Given the description of an element on the screen output the (x, y) to click on. 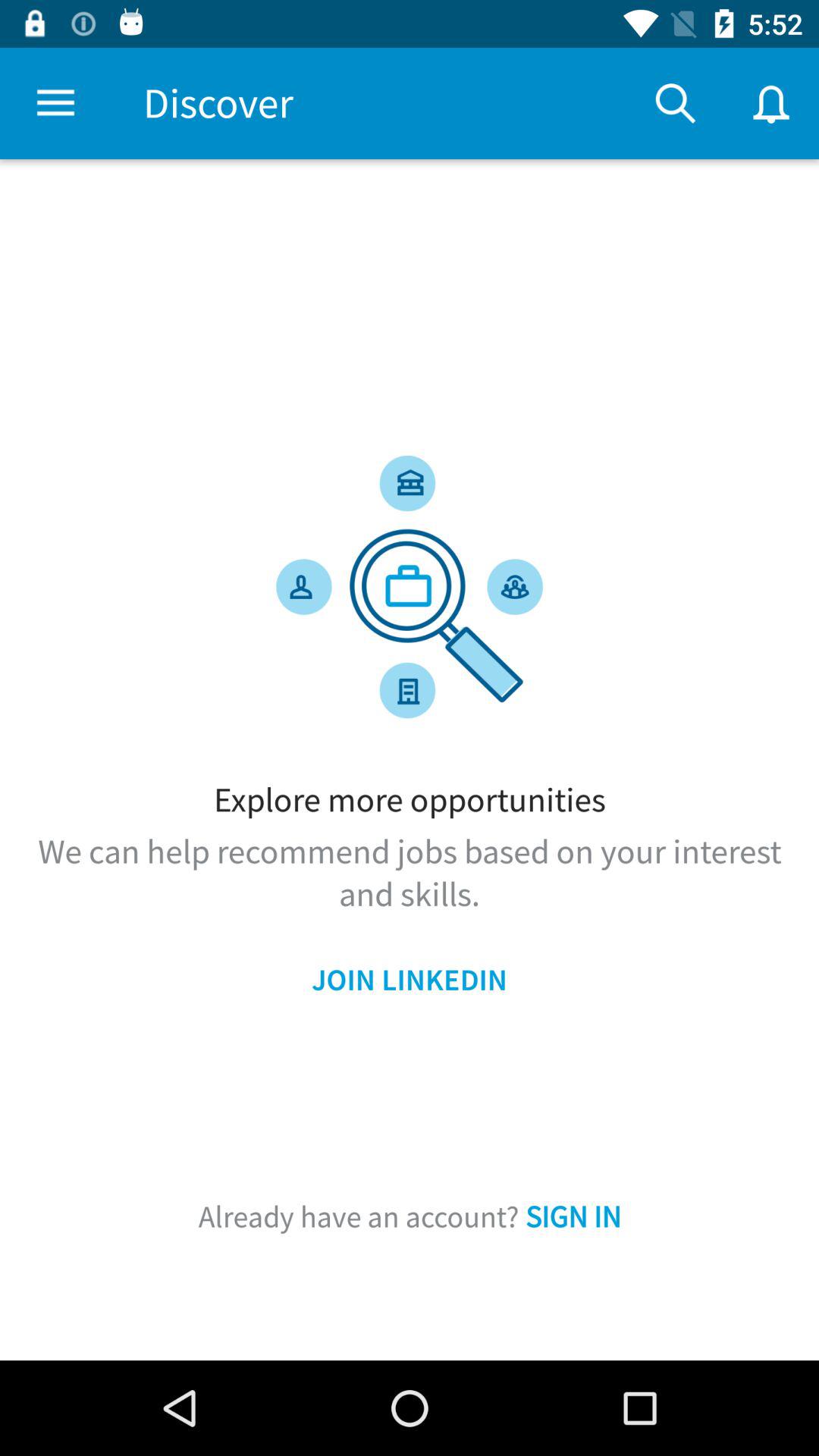
select icon below we can help item (409, 979)
